Given the description of an element on the screen output the (x, y) to click on. 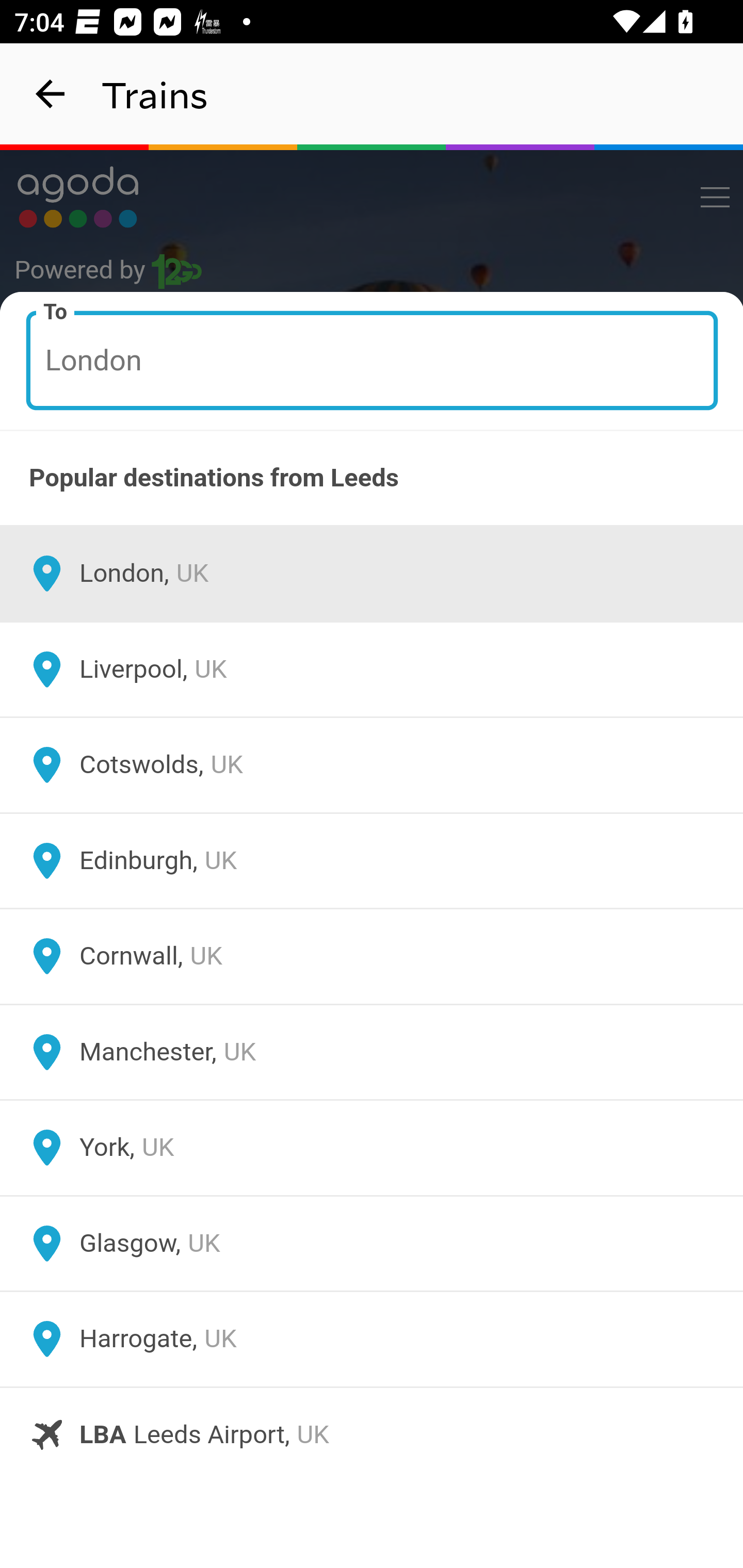
navigation_button (50, 93)
Popular destinations from Leeds (371, 477)
London,UK (371, 573)
Liverpool,UK (371, 669)
Cotswolds,UK (371, 764)
Edinburgh,UK (371, 860)
Cornwall,UK (371, 956)
Manchester,UK (371, 1051)
York,UK (371, 1147)
Glasgow,UK (371, 1243)
Harrogate,UK (371, 1339)
LBA Leeds Airport , UK (371, 1433)
